Given the description of an element on the screen output the (x, y) to click on. 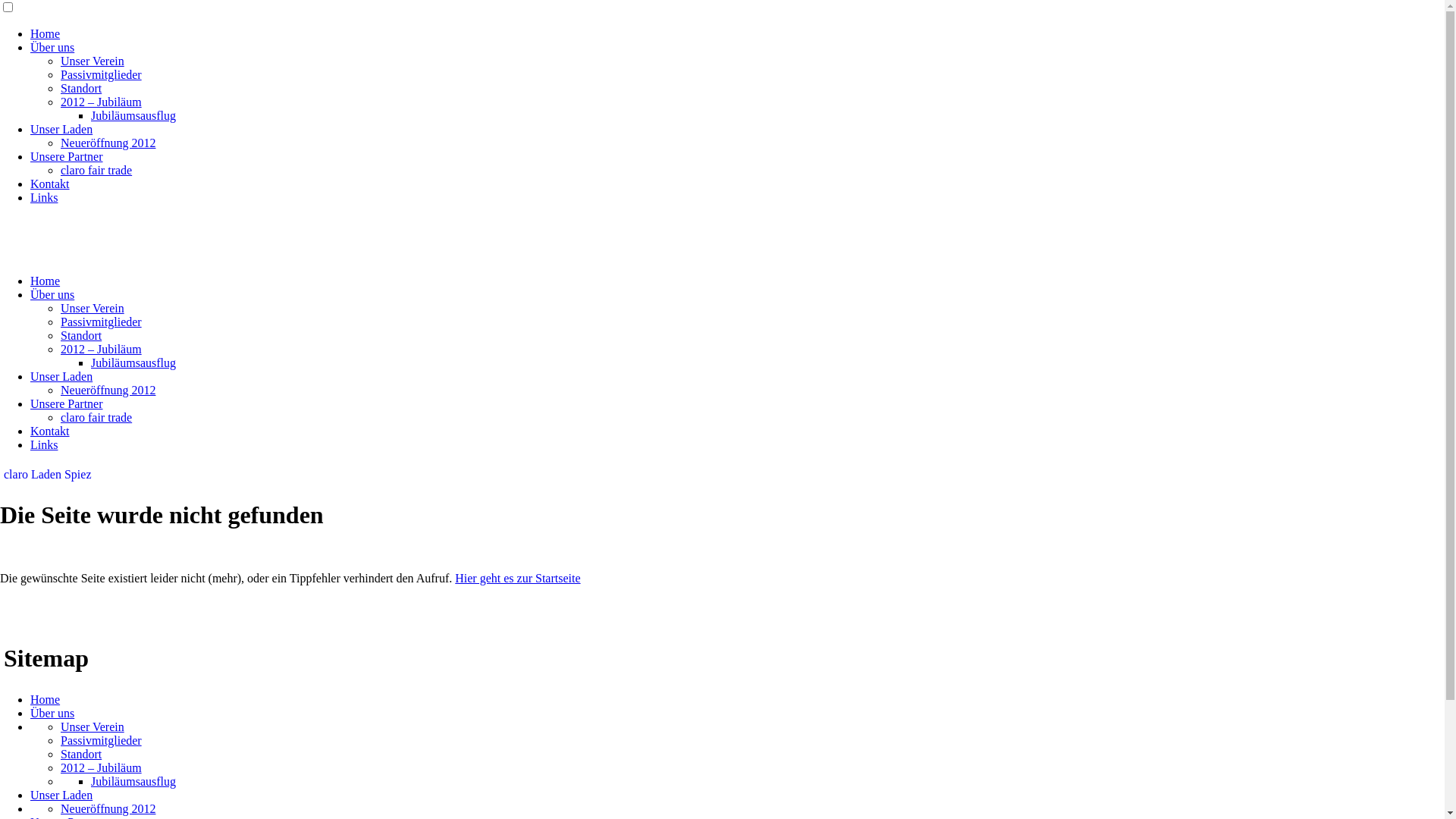
Home Element type: text (44, 33)
Unser Verein Element type: text (92, 726)
claro fair trade Element type: text (95, 417)
Unsere Partner Element type: text (66, 156)
Passivmitglieder Element type: text (100, 321)
Kontakt Element type: text (49, 430)
Unser Verein Element type: text (92, 307)
Unsere Partner Element type: text (66, 403)
Hier geht es zur Startseite Element type: text (517, 577)
Unser Laden Element type: text (61, 128)
Passivmitglieder Element type: text (100, 74)
Unser Laden Element type: text (61, 794)
Home Element type: text (44, 280)
Passivmitglieder Element type: text (100, 740)
Unser Laden Element type: text (61, 376)
Kontakt Element type: text (49, 183)
claro Laden Spiez Element type: text (47, 473)
Links Element type: text (43, 197)
Standort Element type: text (80, 753)
Links Element type: text (43, 444)
Standort Element type: text (80, 87)
Standort Element type: text (80, 335)
Unser Verein Element type: text (92, 60)
claro fair trade Element type: text (95, 169)
Home Element type: text (44, 699)
